Given the description of an element on the screen output the (x, y) to click on. 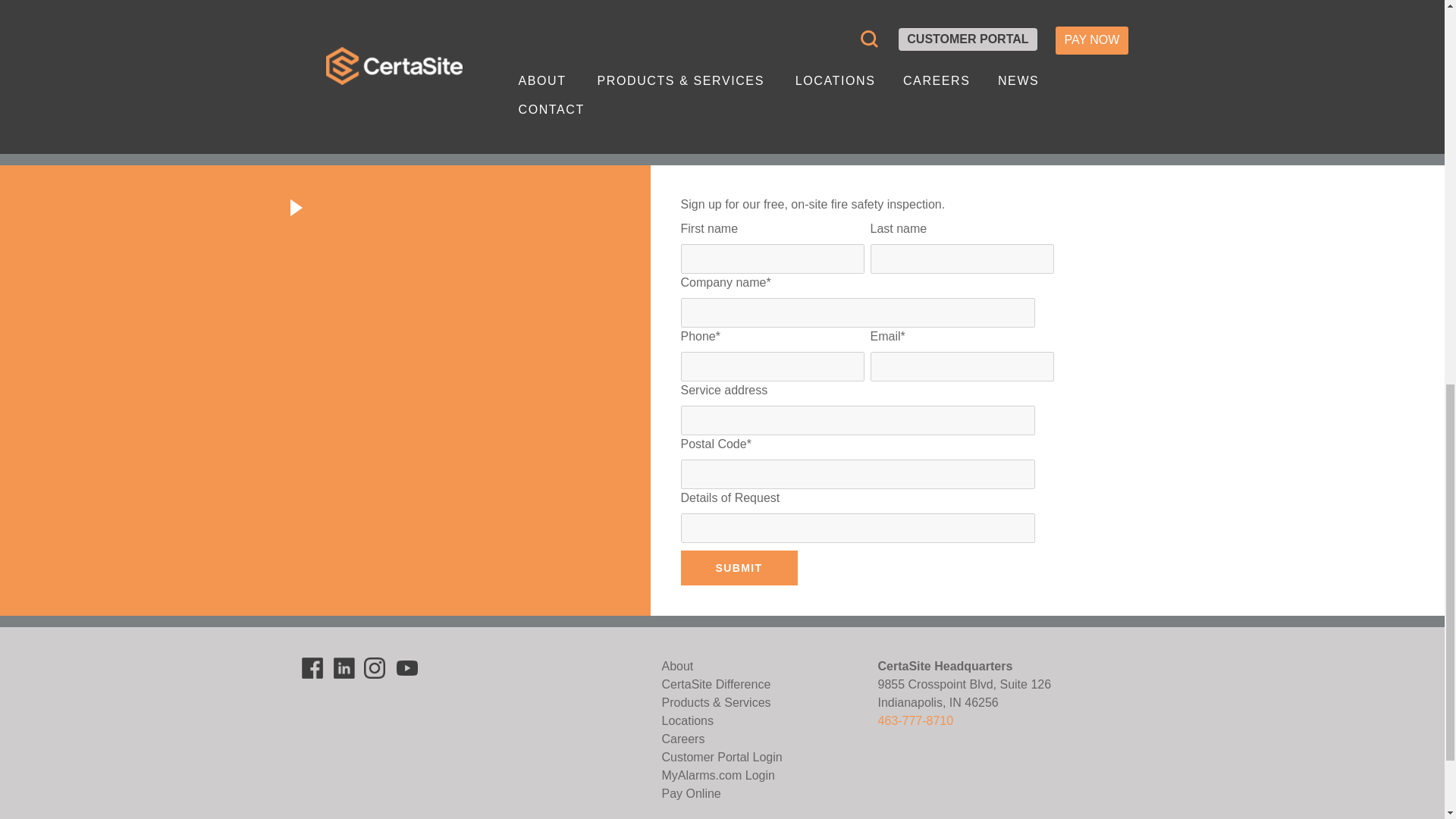
Submit (739, 567)
